Given the description of an element on the screen output the (x, y) to click on. 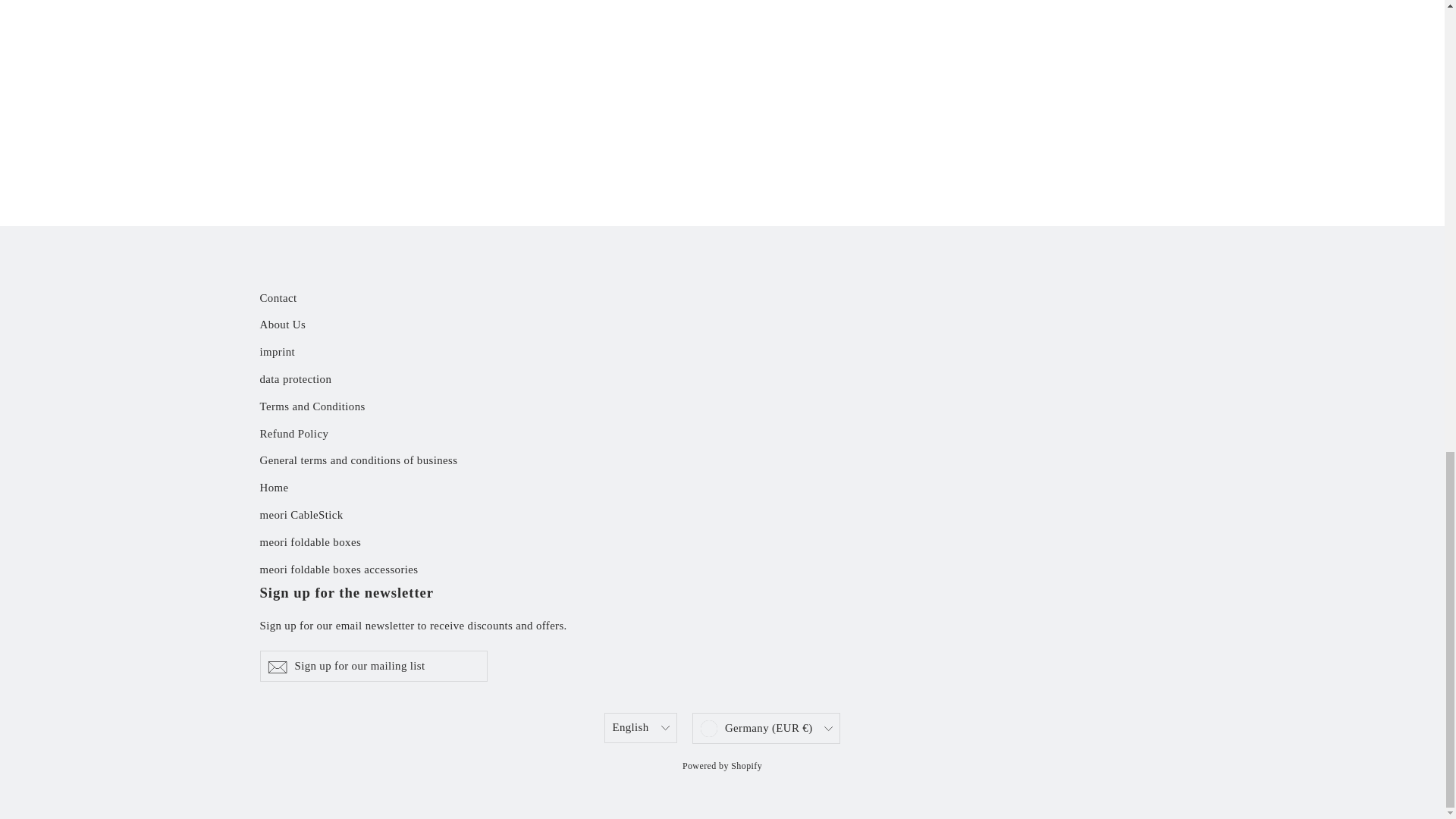
About Us (722, 324)
Contact (722, 298)
icon-email (276, 667)
